Given the description of an element on the screen output the (x, y) to click on. 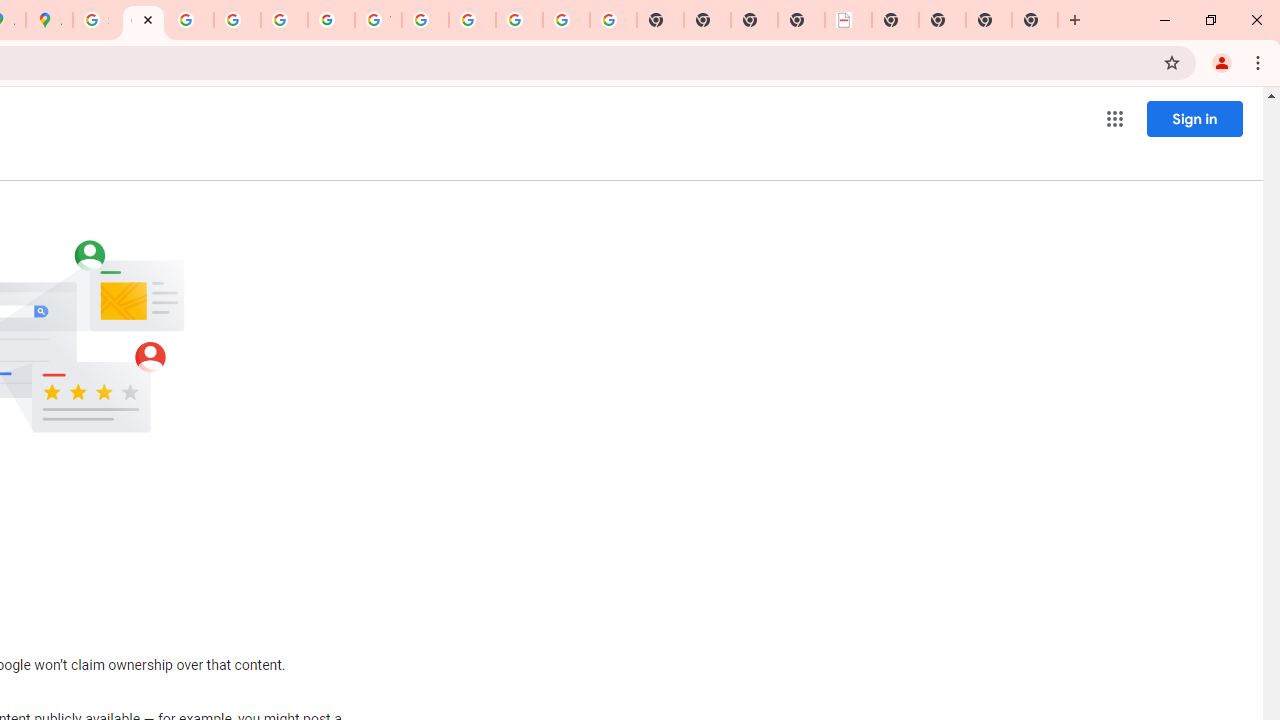
LAAD Defence & Security 2025 | BAE Systems (848, 20)
New Tab (989, 20)
